Given the description of an element on the screen output the (x, y) to click on. 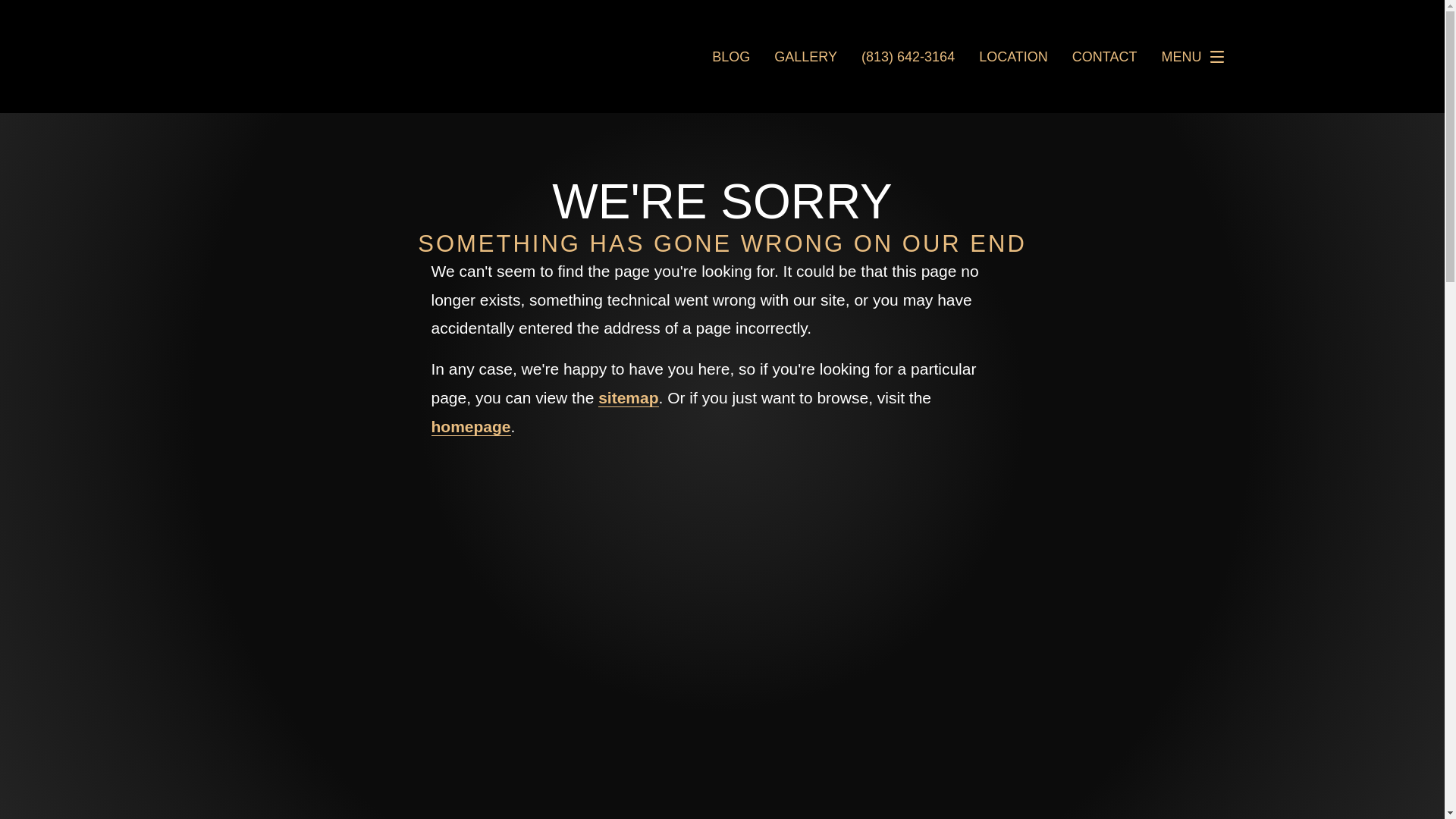
homepage (470, 426)
sitemap (628, 398)
CONTACT (1104, 56)
MENU (1196, 56)
LOCATION (1013, 56)
